Given the description of an element on the screen output the (x, y) to click on. 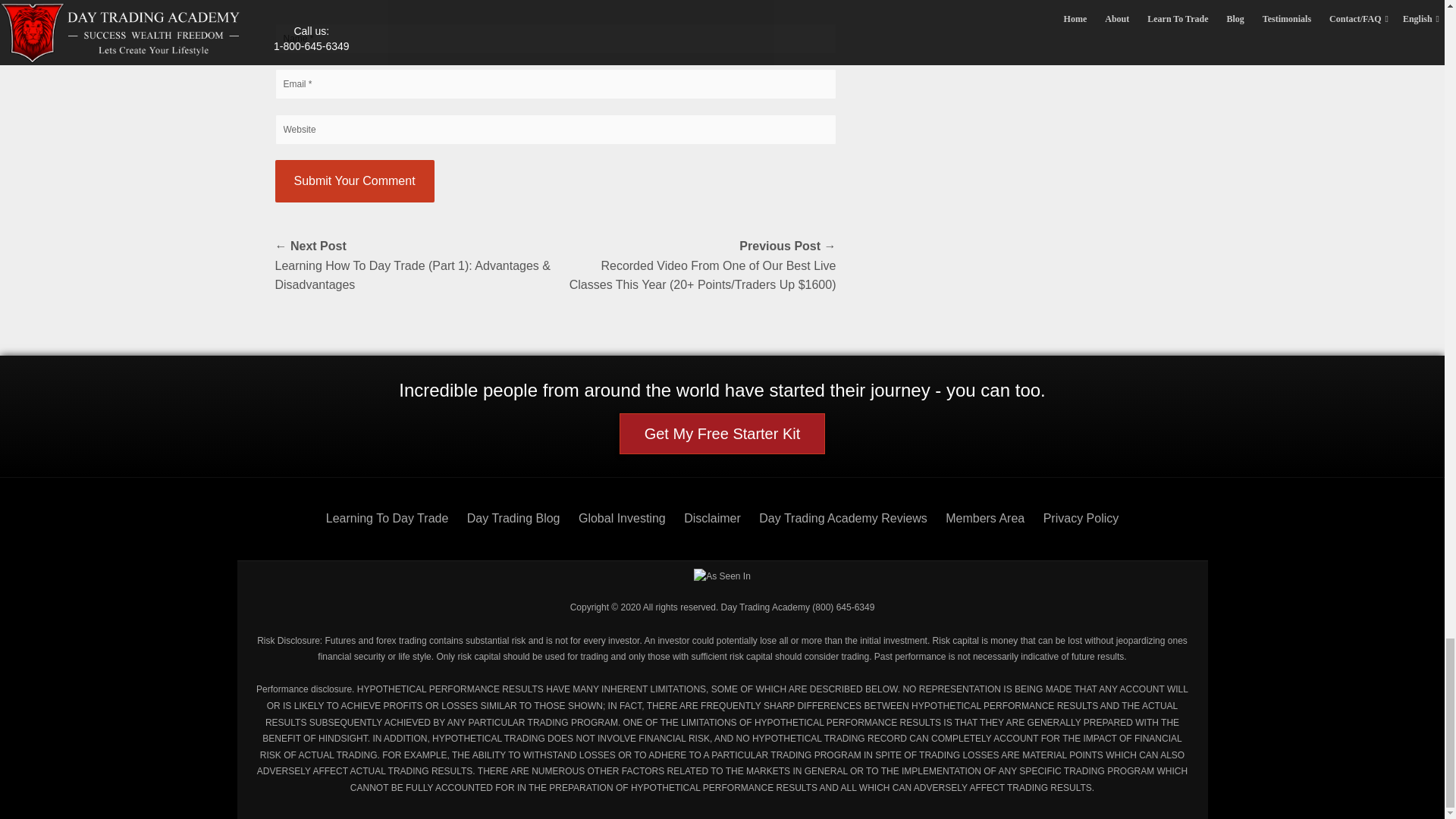
Submit Your Comment (354, 180)
